Given the description of an element on the screen output the (x, y) to click on. 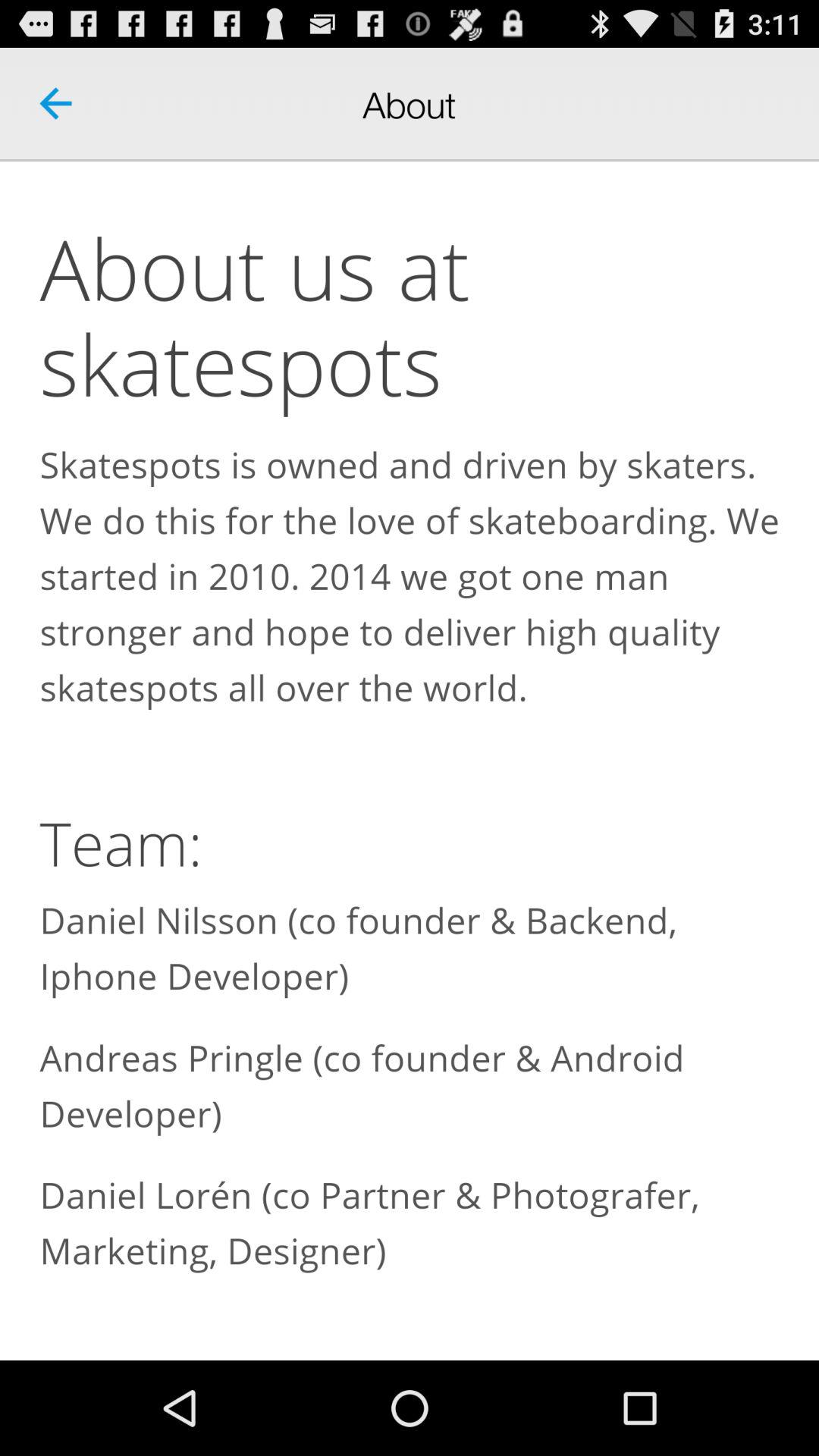
more about information (409, 760)
